Given the description of an element on the screen output the (x, y) to click on. 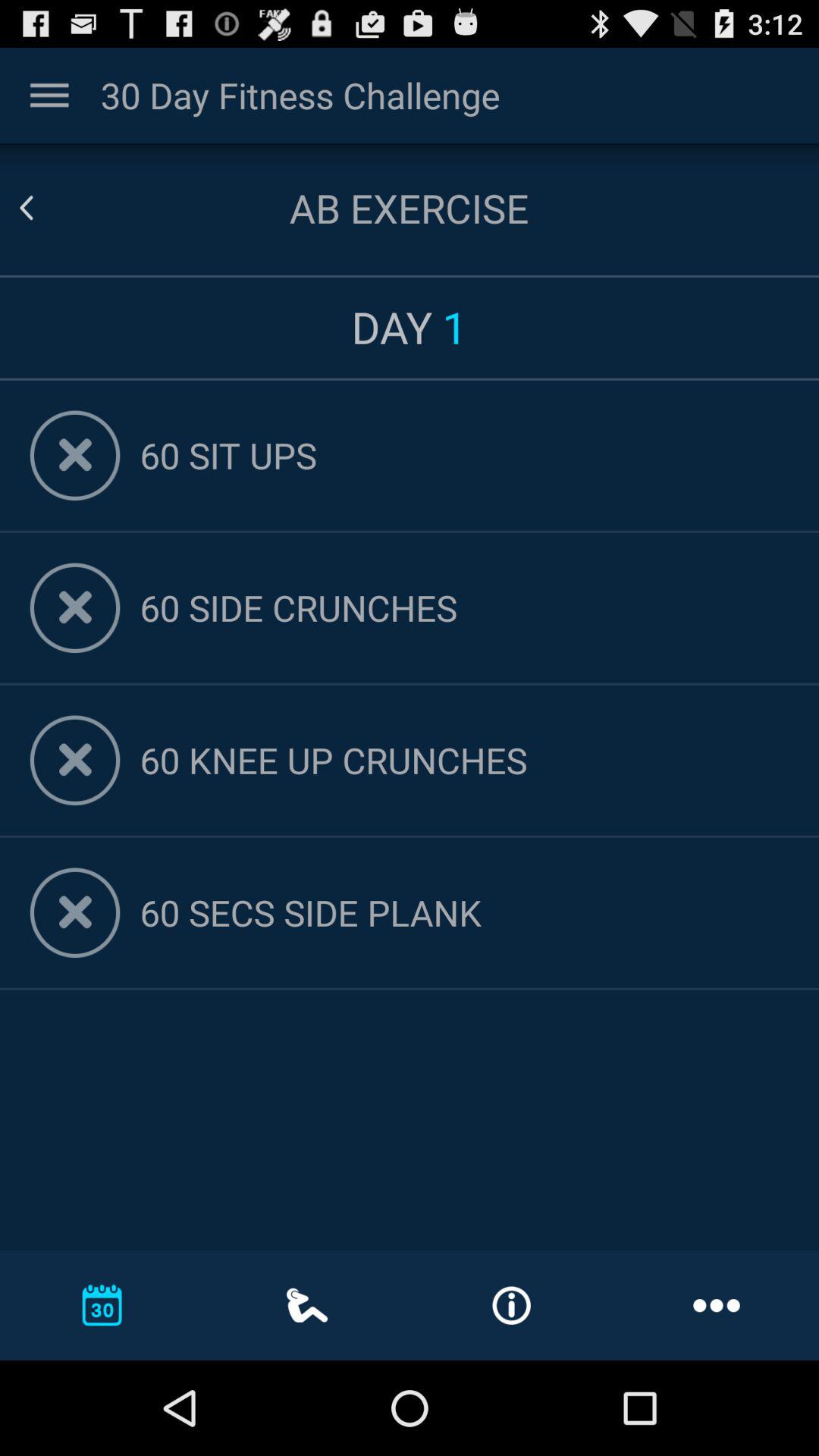
click on the information icon (511, 1305)
